Given the description of an element on the screen output the (x, y) to click on. 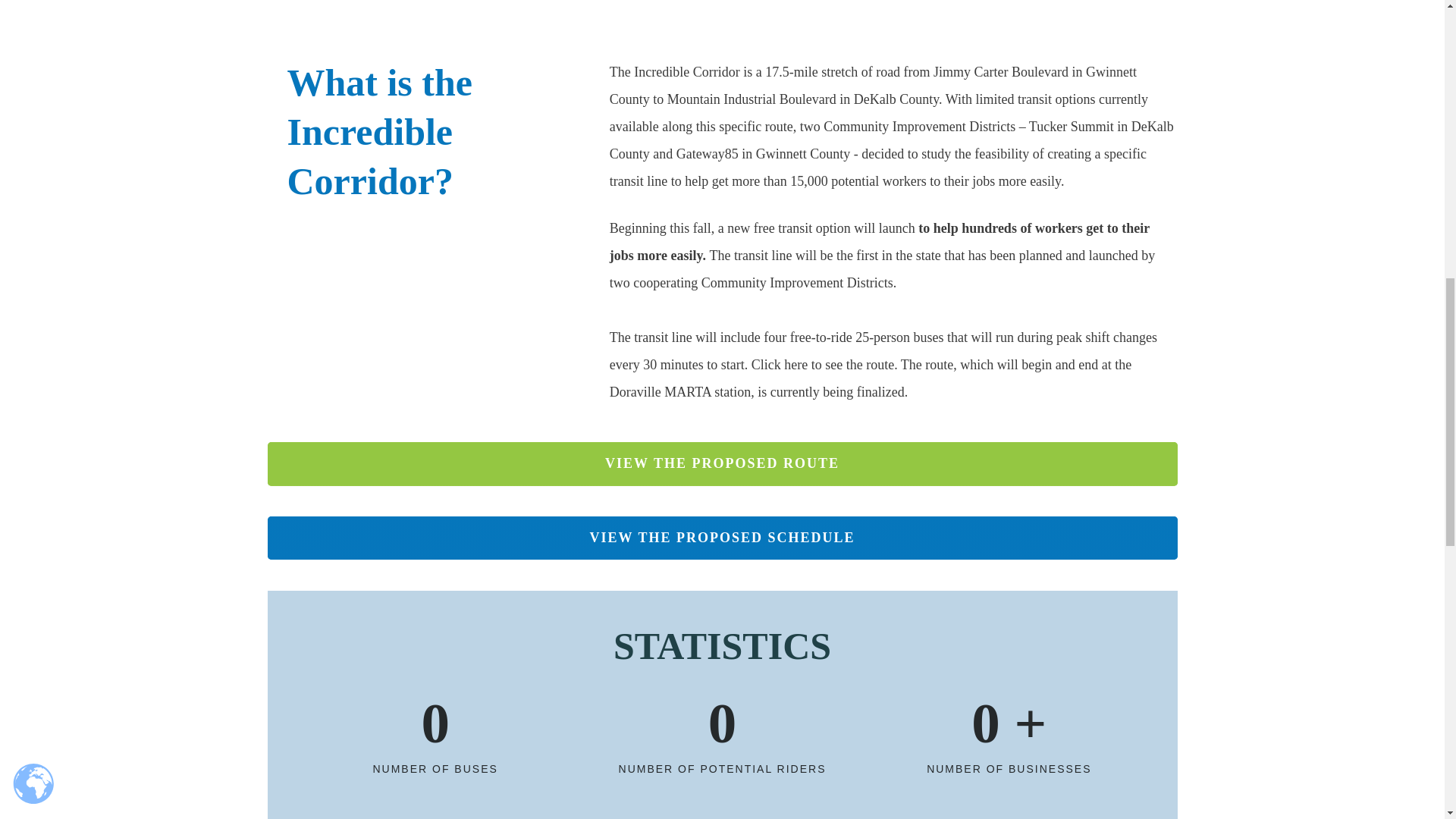
VIEW THE PROPOSED SCHEDULE (721, 538)
VIEW THE PROPOSED ROUTE (721, 464)
